Given the description of an element on the screen output the (x, y) to click on. 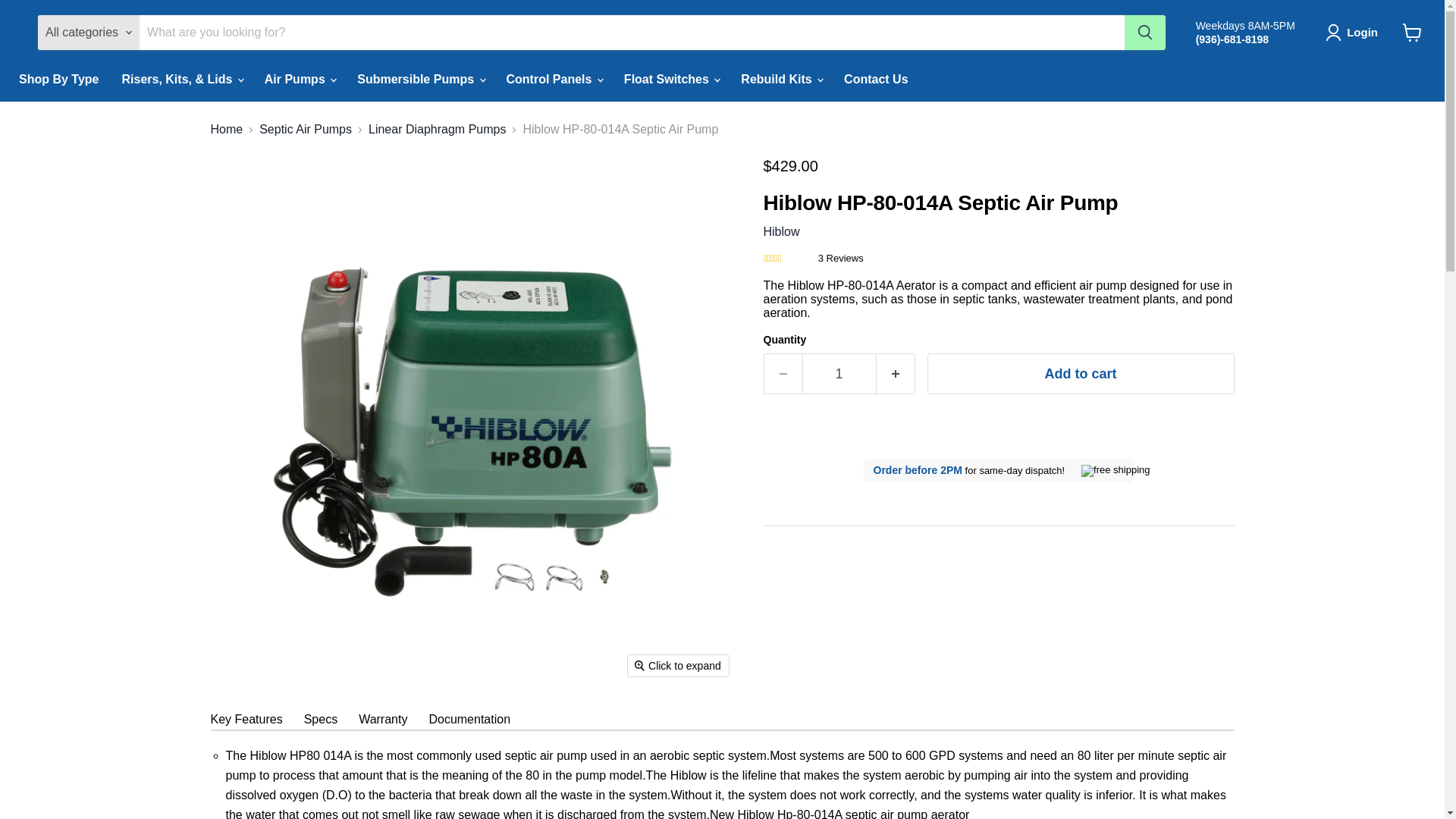
Shop By Type (58, 79)
Login (1354, 32)
Septic Air Pumps (305, 129)
Contact Us (875, 79)
1 (839, 373)
View cart (1411, 32)
Linear Diaphragm Pumps (436, 129)
